Given the description of an element on the screen output the (x, y) to click on. 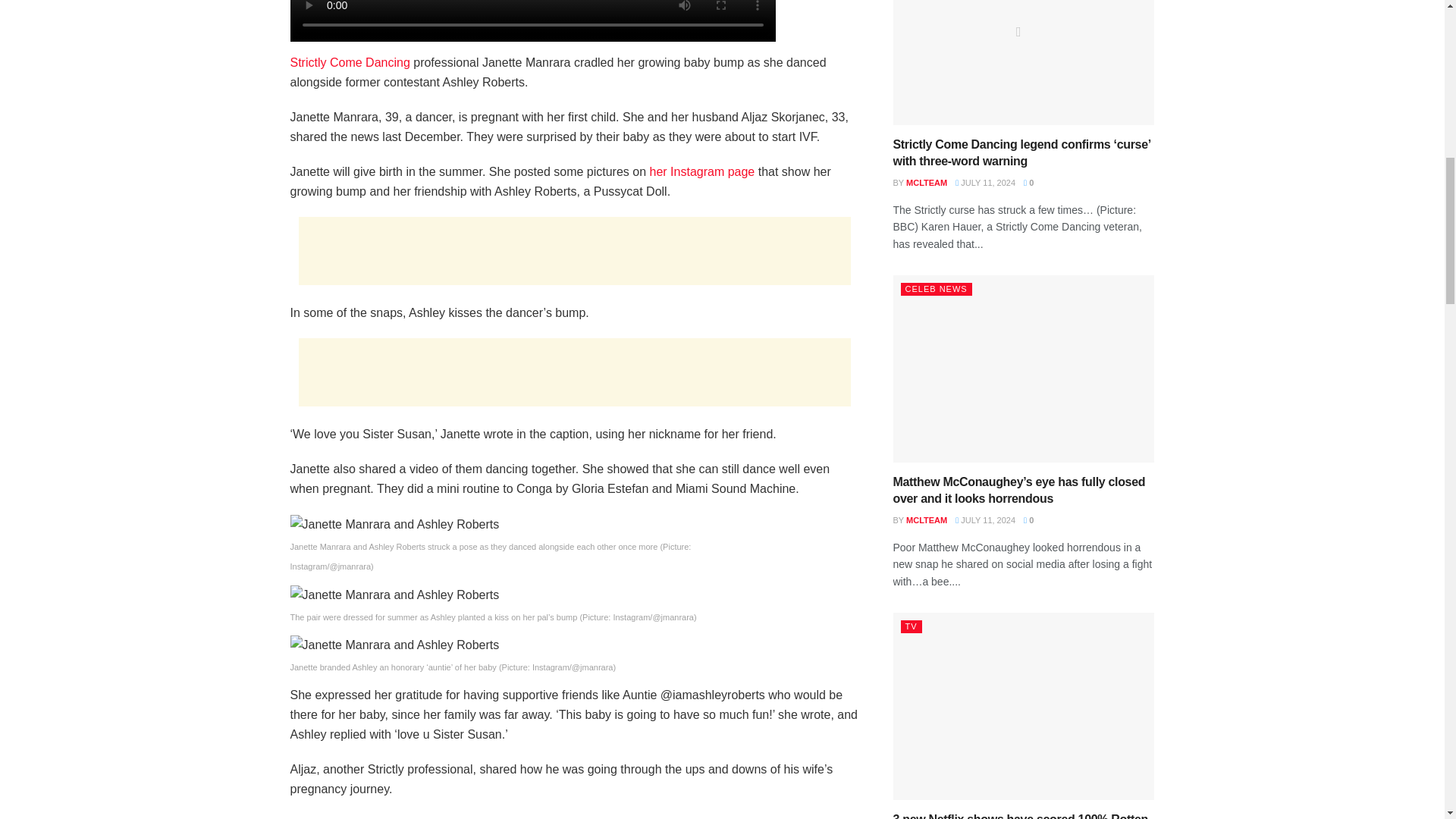
strictly come davcing (349, 62)
